Given the description of an element on the screen output the (x, y) to click on. 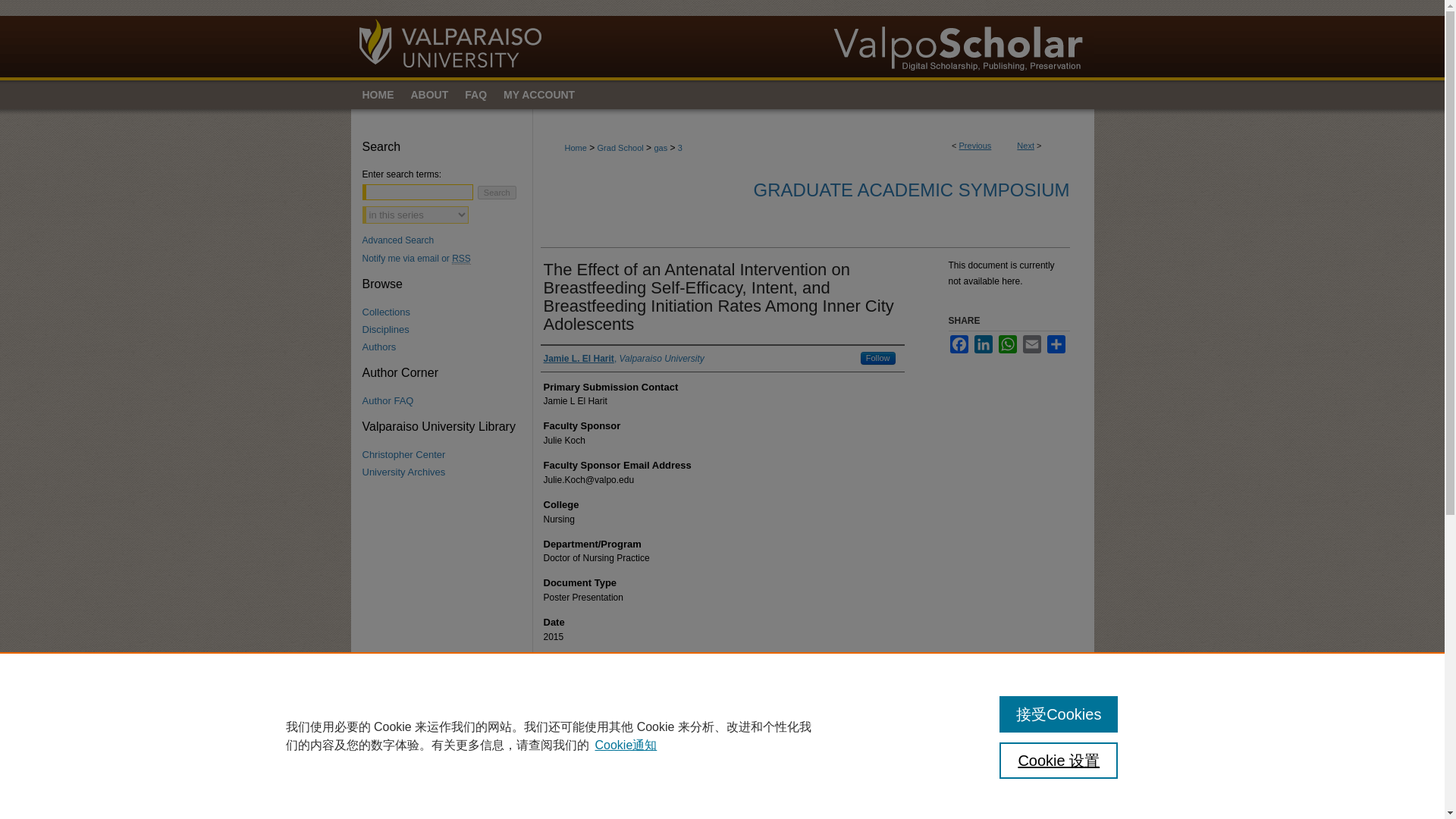
Grad School (619, 147)
ABOUT (429, 94)
Browse by Disciplines (447, 328)
About (429, 94)
Notify me via email or RSS (447, 258)
Browse by Collections (447, 311)
My Account (544, 94)
WhatsApp (1006, 343)
HOME (375, 94)
ValpoScholar (721, 40)
Previous (975, 144)
gas (659, 147)
FAQ (476, 94)
Next (1024, 144)
Jamie L. El Harit, Valparaiso University (623, 358)
